Given the description of an element on the screen output the (x, y) to click on. 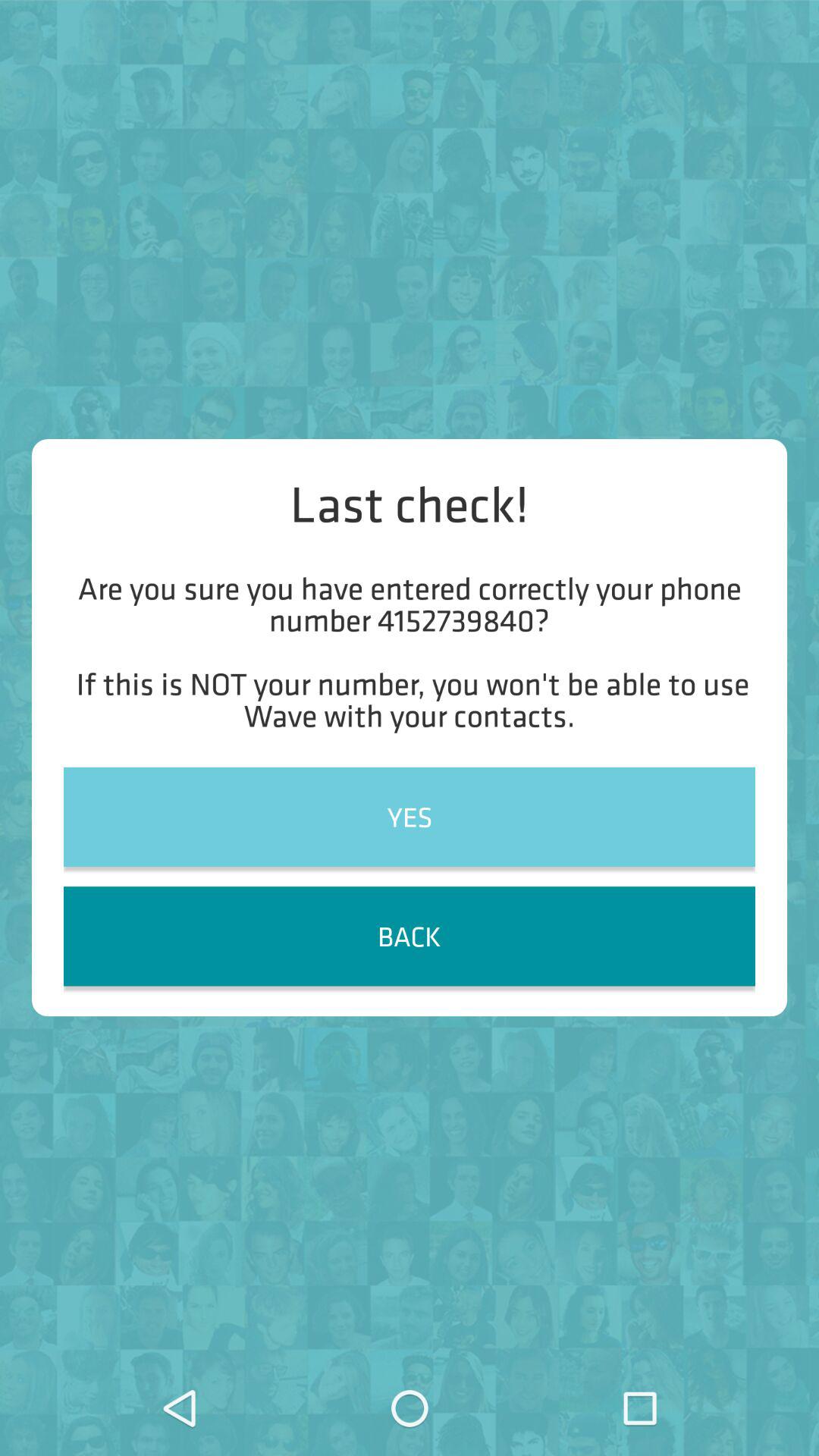
open the item below are you sure item (409, 816)
